Given the description of an element on the screen output the (x, y) to click on. 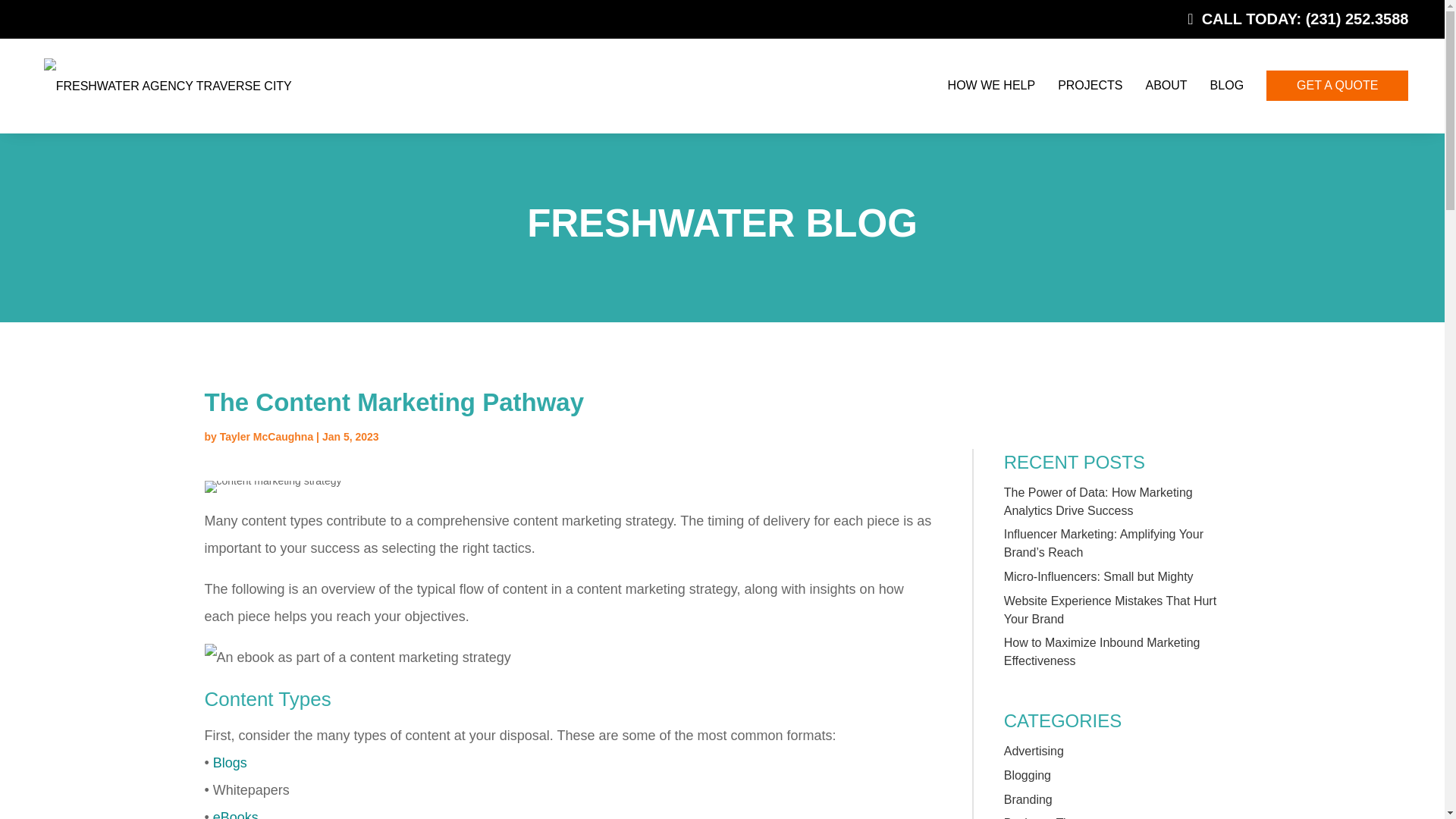
ABOUT (1165, 85)
GET A QUOTE (1336, 84)
Posts by Tayler McCaughna (266, 436)
Blogs (229, 762)
The Power of Data: How Marketing Analytics Drive Success (1098, 501)
PROJECTS (1089, 85)
eBooks (235, 814)
Tayler McCaughna (266, 436)
pexels-peter-c-360438 (273, 486)
HOW WE HELP (991, 85)
